Given the description of an element on the screen output the (x, y) to click on. 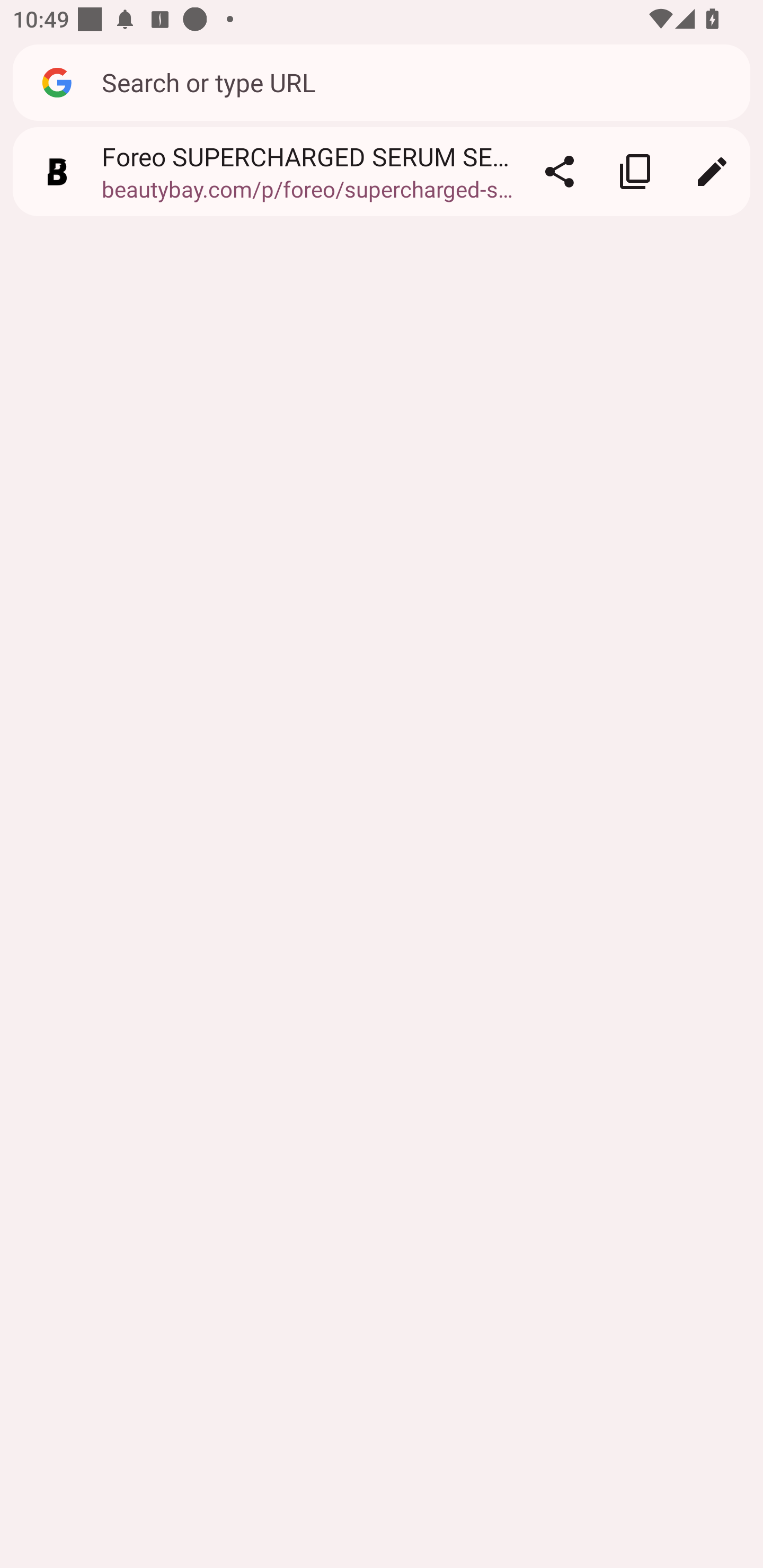
Search or type URL (415, 82)
Share… (559, 171)
Copy link (635, 171)
Edit (711, 171)
